Given the description of an element on the screen output the (x, y) to click on. 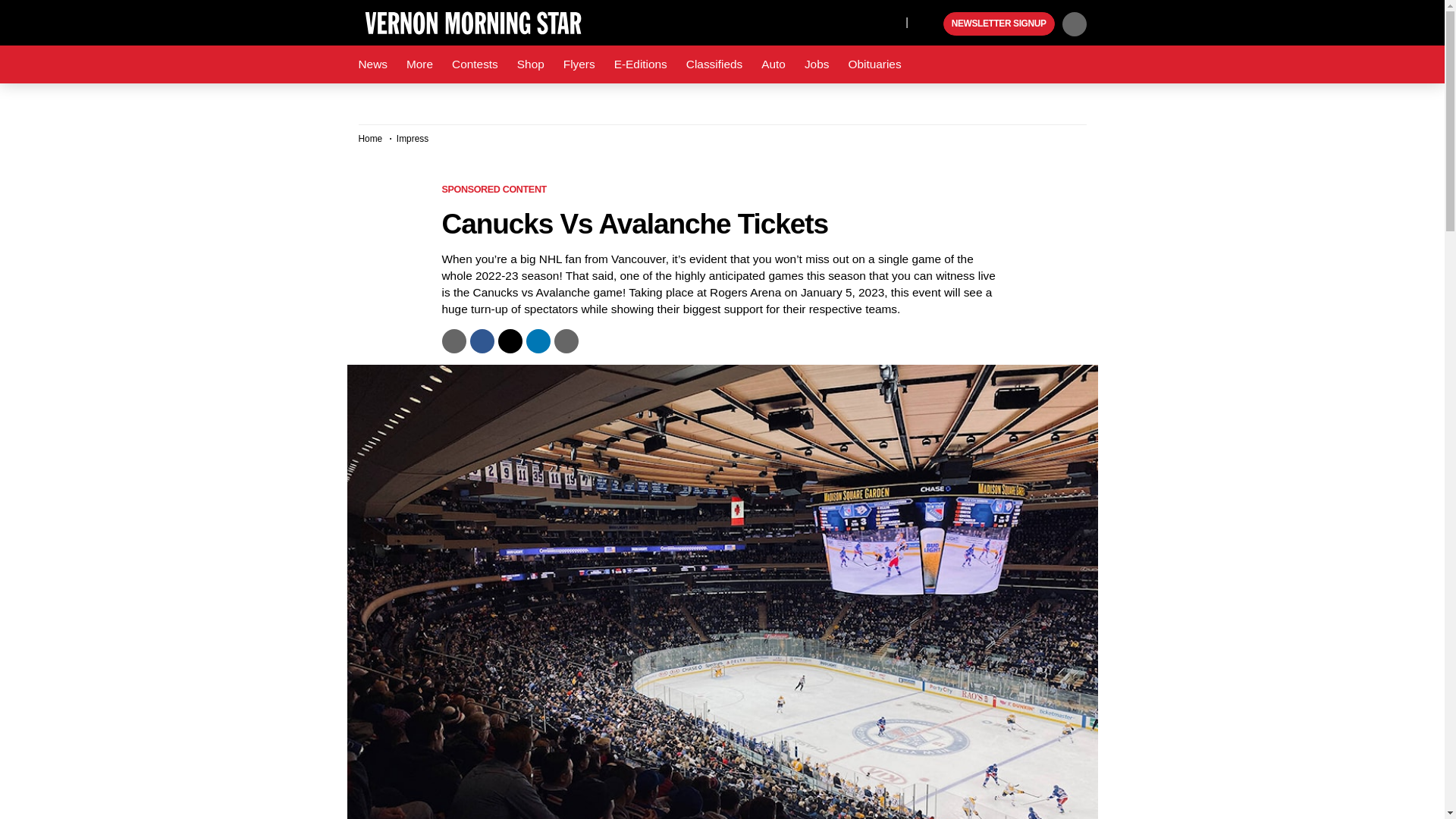
Black Press Media (929, 24)
Play (929, 24)
X (889, 21)
News (372, 64)
NEWSLETTER SIGNUP (998, 24)
